Given the description of an element on the screen output the (x, y) to click on. 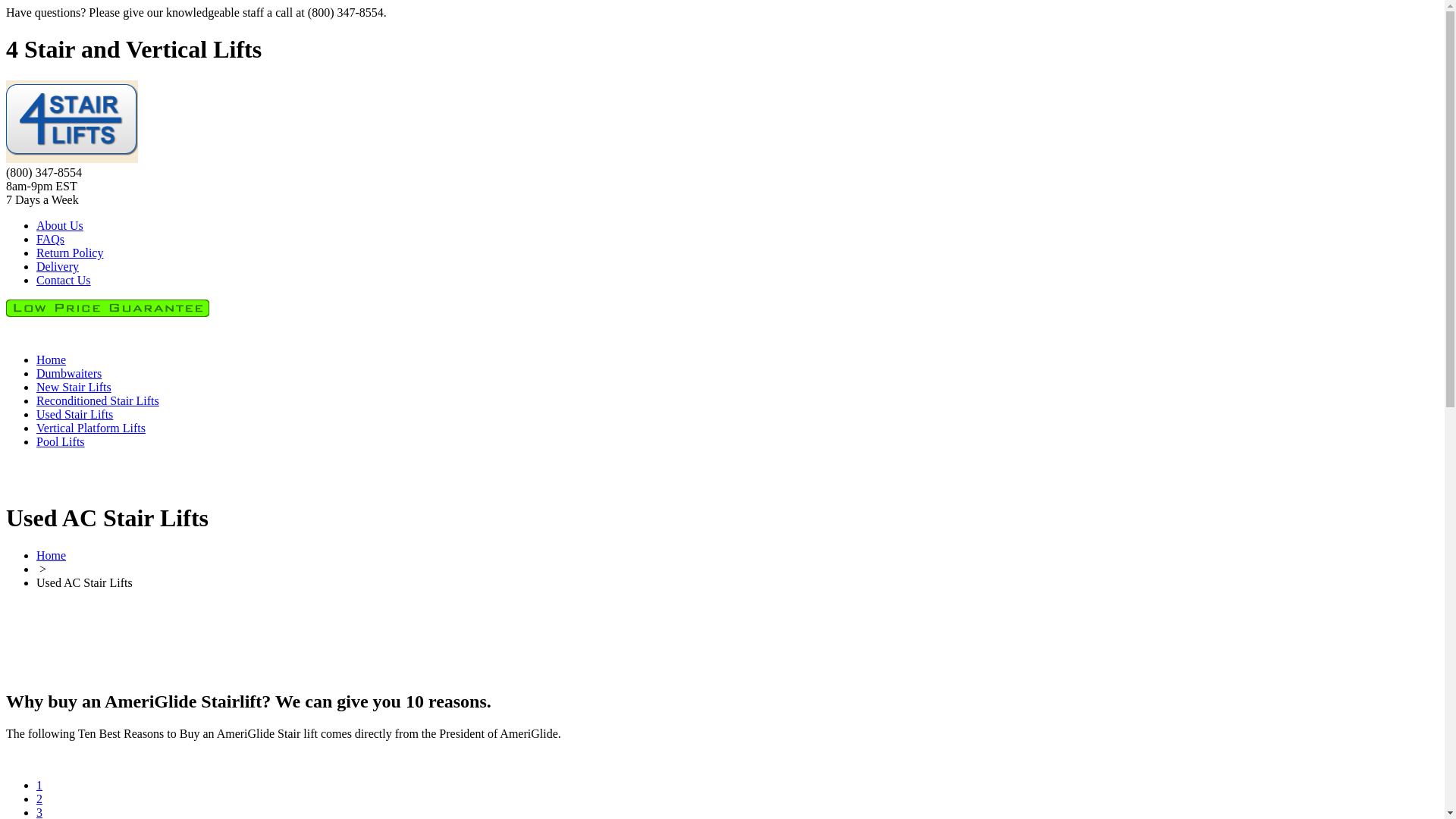
Contact Us Element type: text (63, 279)
Return Policy Element type: text (69, 252)
About Us Element type: text (59, 225)
Pool Lifts Element type: text (60, 441)
Used Stair Lifts Element type: text (74, 413)
Dumbwaiters Element type: text (68, 373)
1 Element type: text (39, 784)
Reconditioned Stair Lifts Element type: text (97, 400)
Vertical Platform Lifts Element type: text (90, 427)
FAQs Element type: text (50, 238)
New Stair Lifts Element type: text (73, 386)
Home Element type: text (50, 359)
2 Element type: text (39, 798)
Delivery Element type: text (57, 266)
Home Element type: text (50, 555)
